Given the description of an element on the screen output the (x, y) to click on. 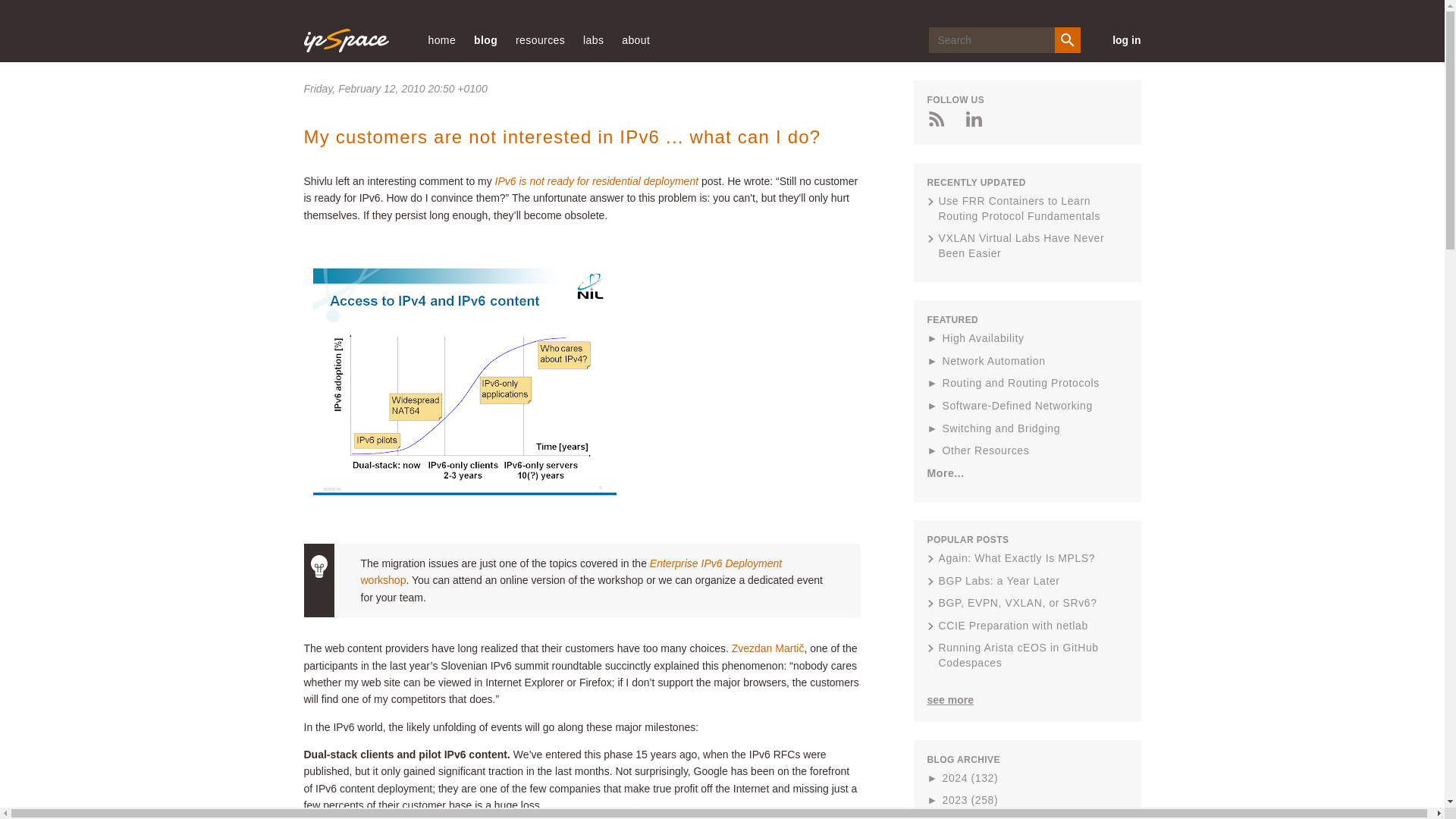
home (441, 39)
log in (1118, 39)
Enterprise IPv6 Deployment workshop (572, 571)
My customers are not interested in IPv6 ... what can I do? (561, 136)
labs (593, 39)
IPv6 is not ready for residential deployment (596, 181)
blog (485, 39)
resources (539, 39)
about (635, 39)
